Given the description of an element on the screen output the (x, y) to click on. 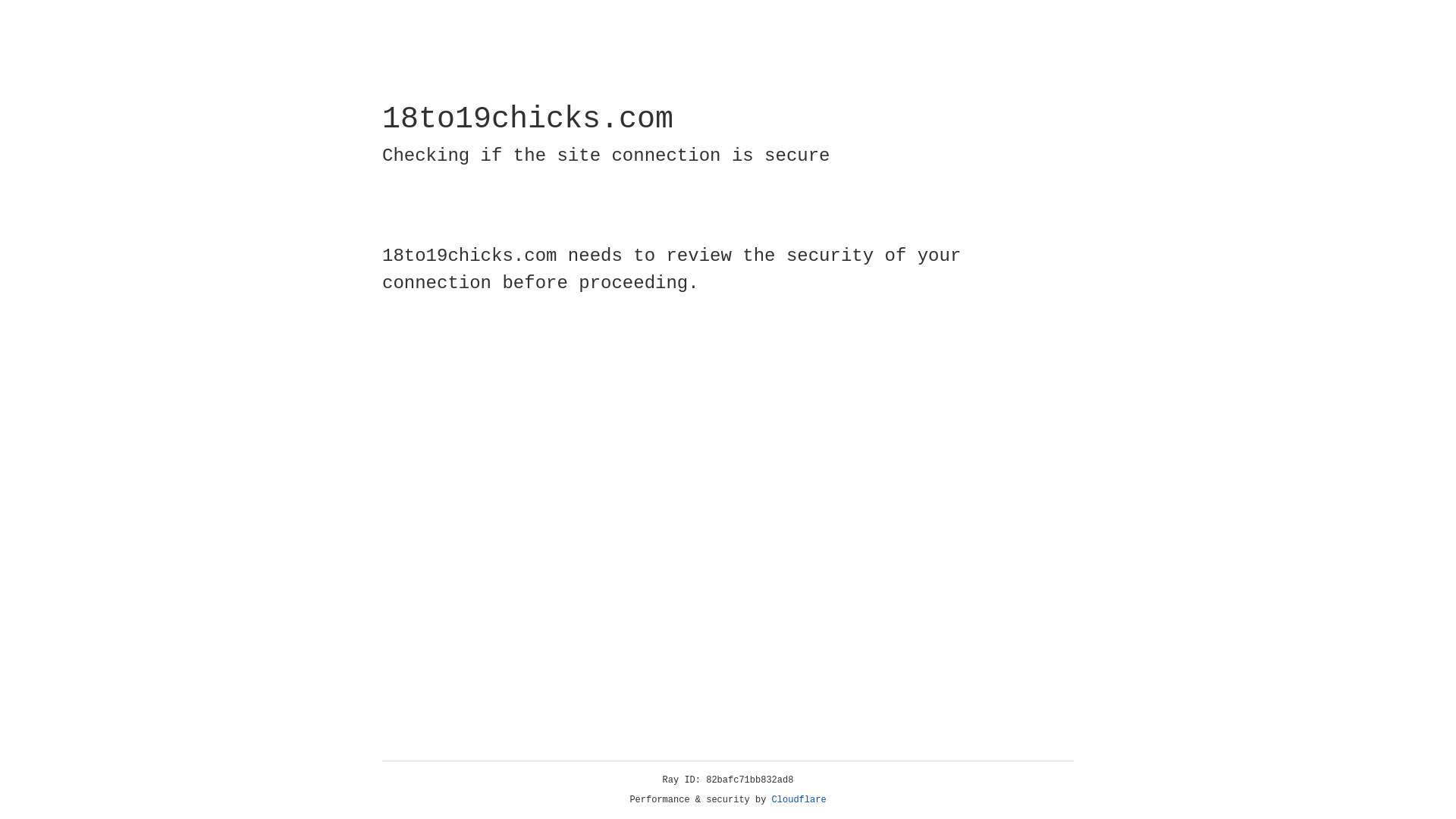
Cloudflare Element type: text (798, 799)
